Given the description of an element on the screen output the (x, y) to click on. 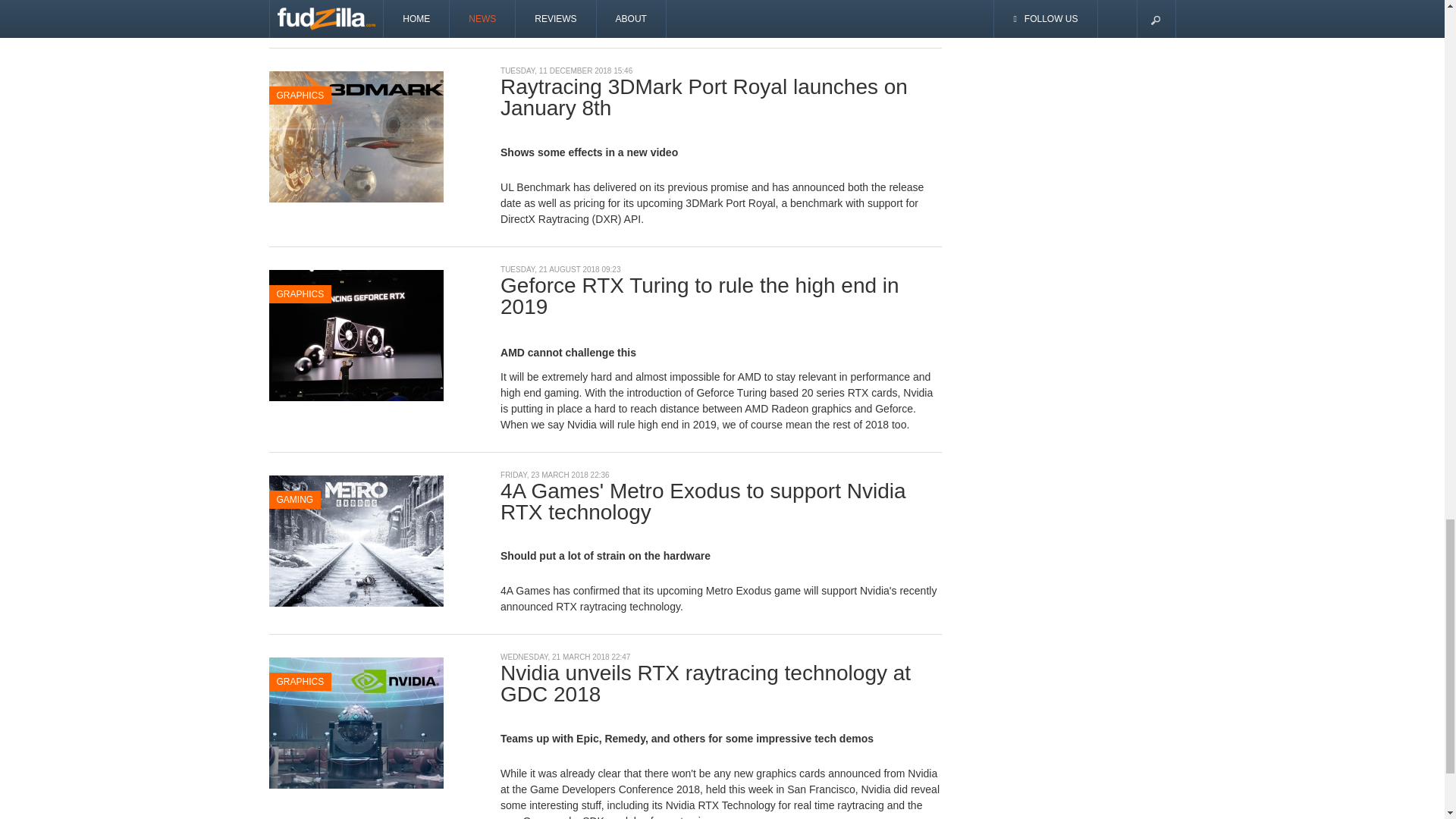
Raytracing 3DMark Port Royal launches on January 8th (354, 135)
Geforce RTX Turing to rule the high end in 2019 (354, 334)
Nvidia unveils RTX raytracing technology at GDC 2018 (354, 721)
